Given the description of an element on the screen output the (x, y) to click on. 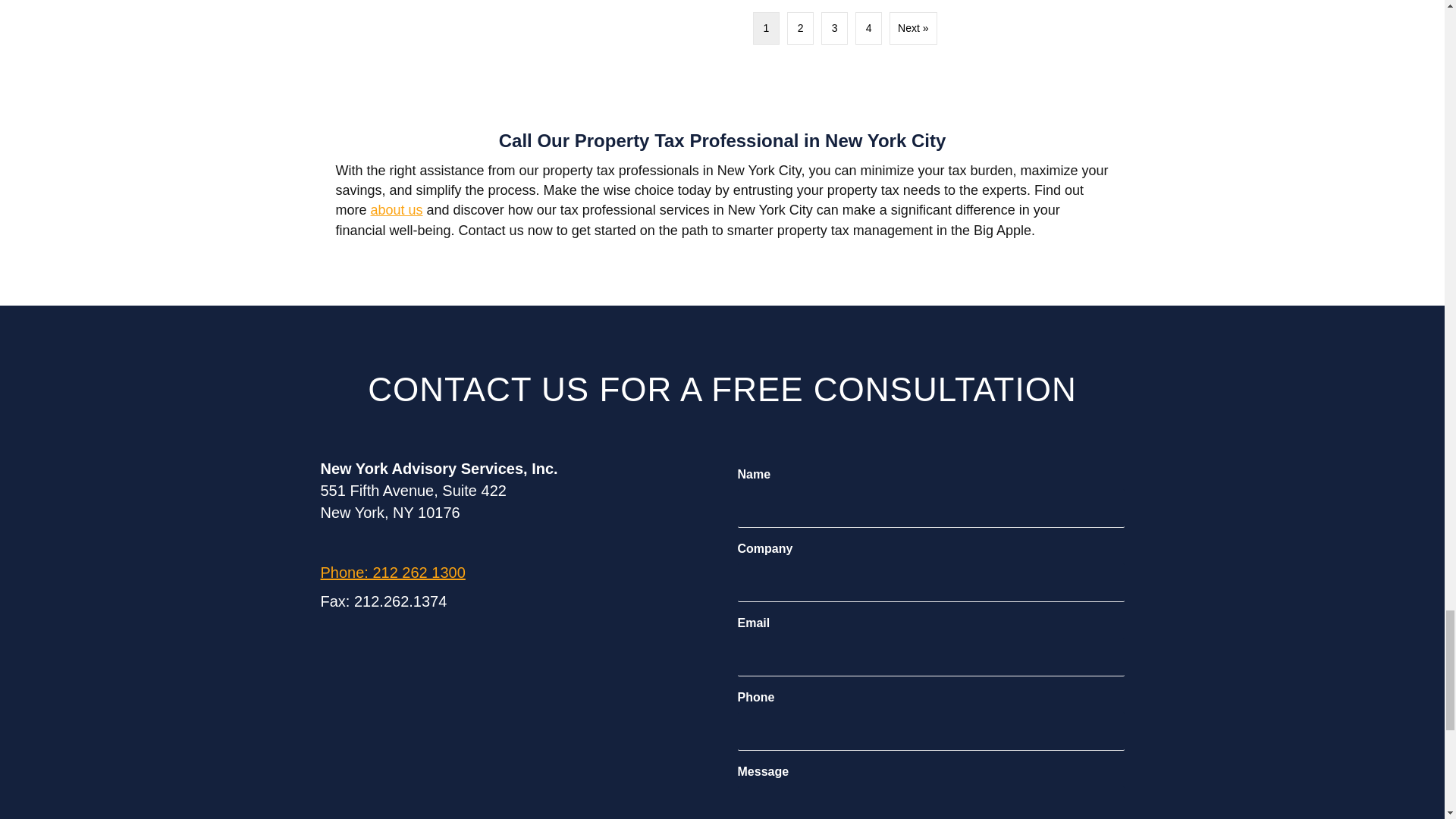
Phone: 212 262 1300 (392, 572)
Phone: 212 262 1300 (392, 572)
about us (397, 209)
